Given the description of an element on the screen output the (x, y) to click on. 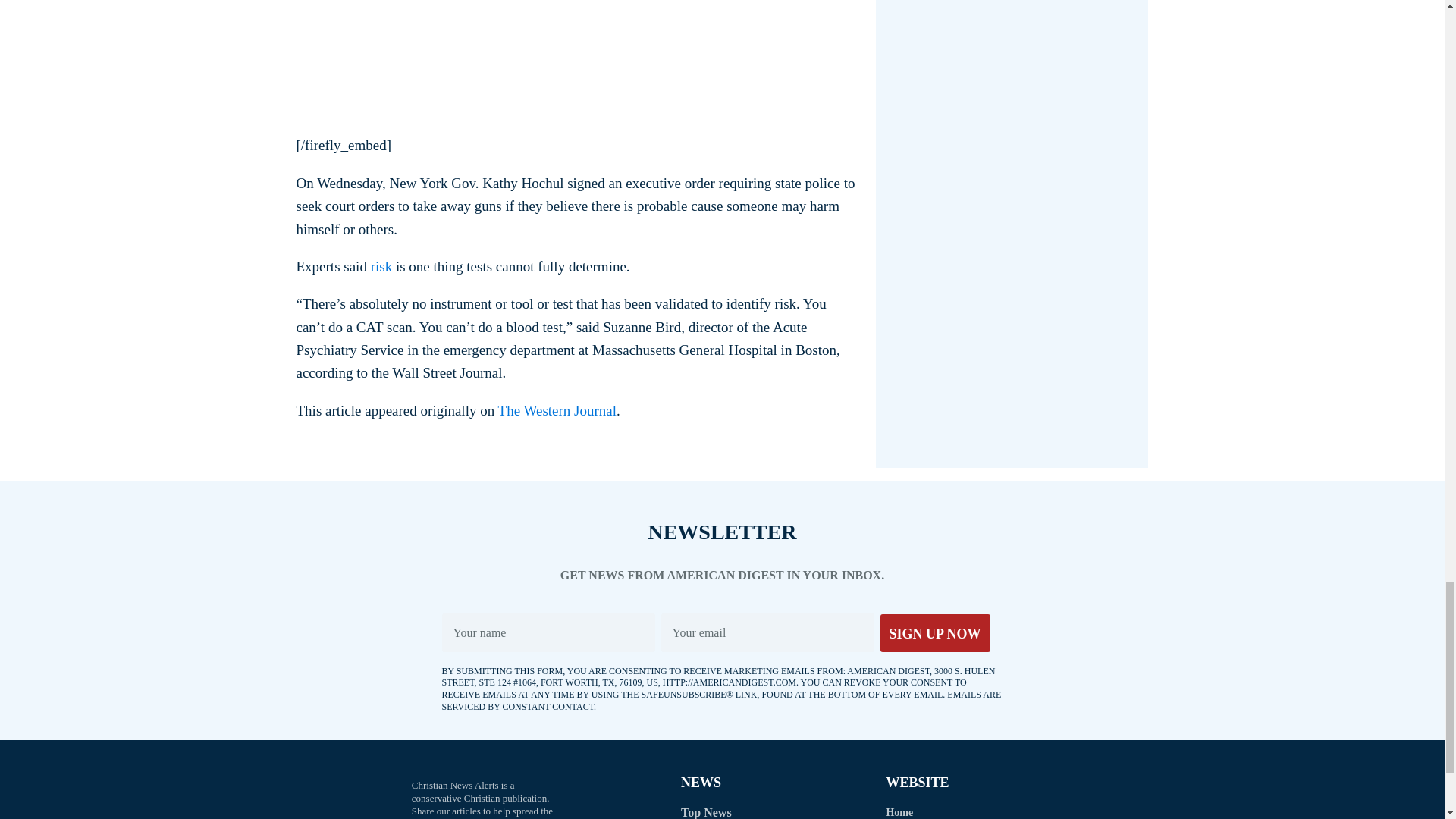
SIGN UP NOW (934, 632)
risk (382, 266)
The Western Journal (556, 410)
